Given the description of an element on the screen output the (x, y) to click on. 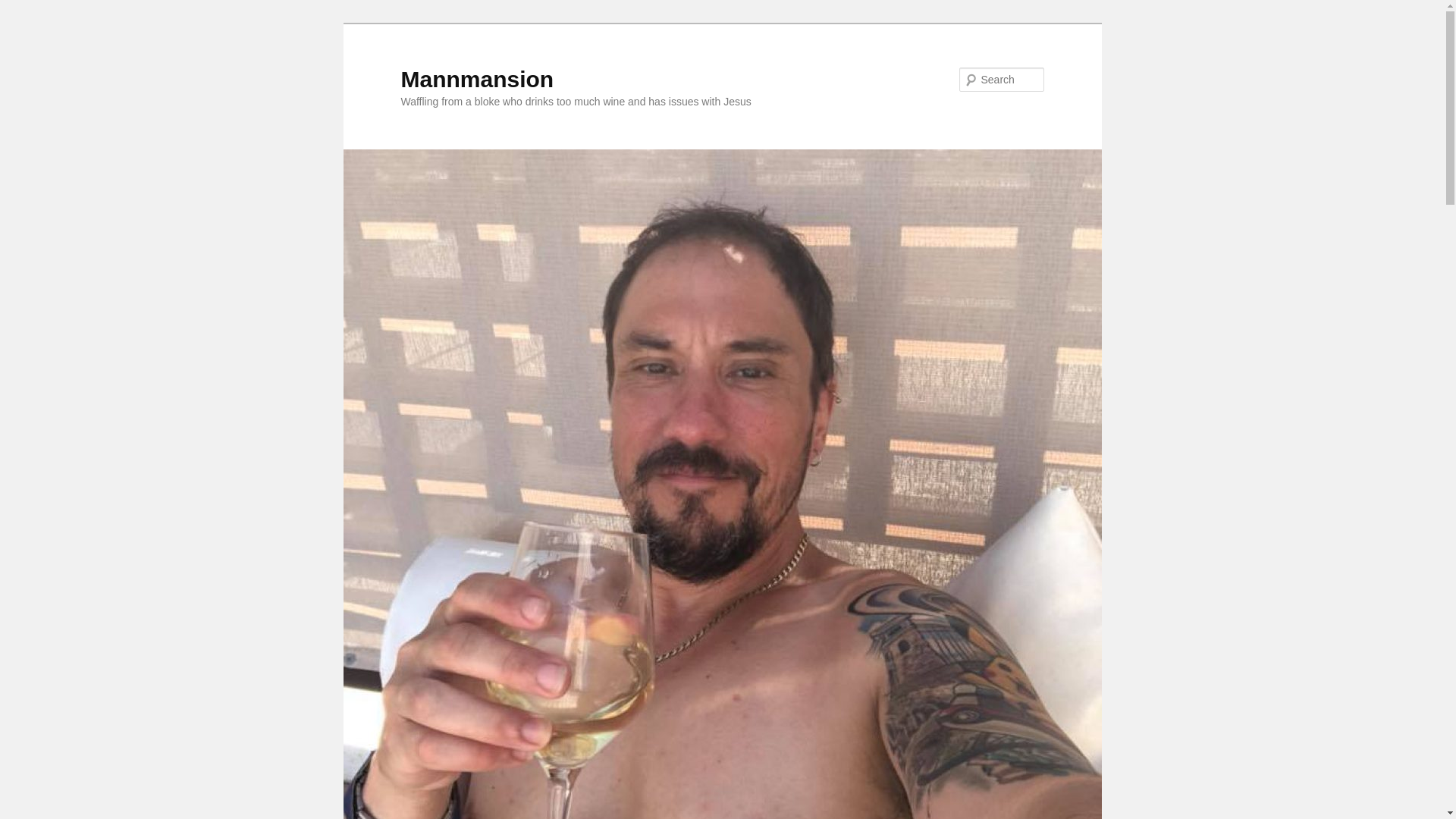
Search (21, 11)
Mannmansion (476, 78)
Search (24, 8)
